Given the description of an element on the screen output the (x, y) to click on. 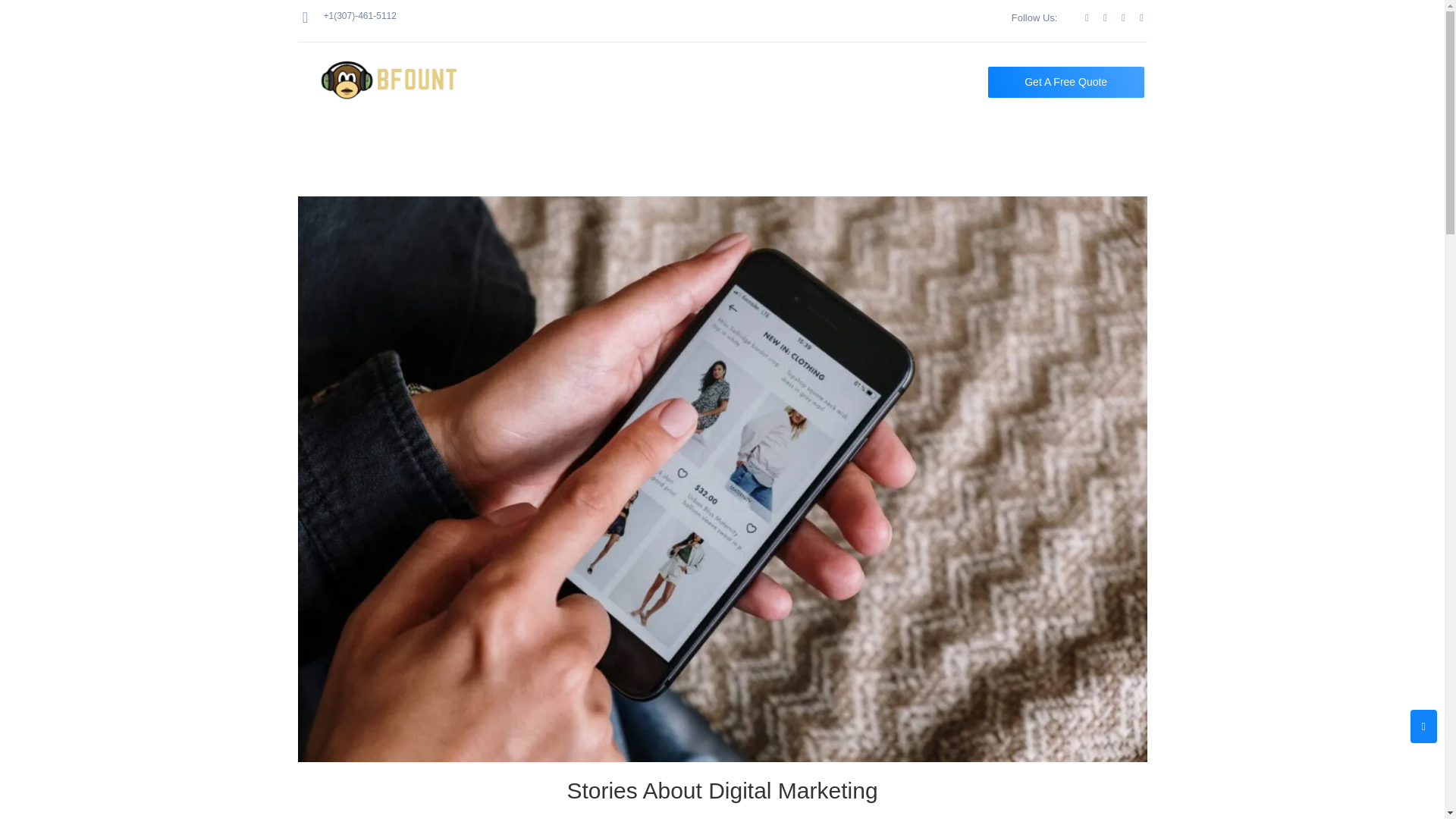
Contact (876, 81)
Services (717, 81)
Home (556, 81)
About (630, 81)
Get A Free Quote (1066, 81)
